Given the description of an element on the screen output the (x, y) to click on. 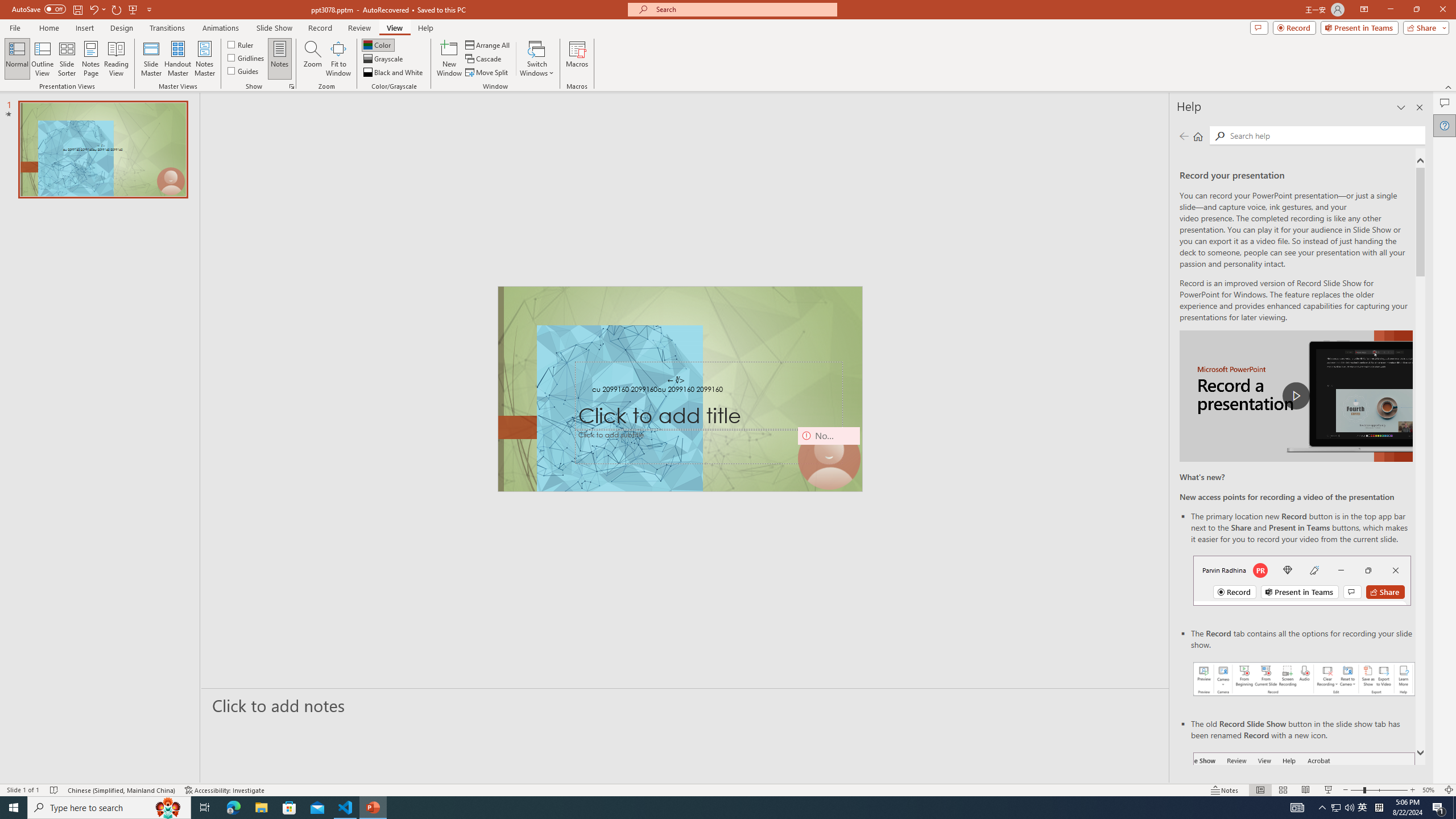
Ruler (241, 44)
